Given the description of an element on the screen output the (x, y) to click on. 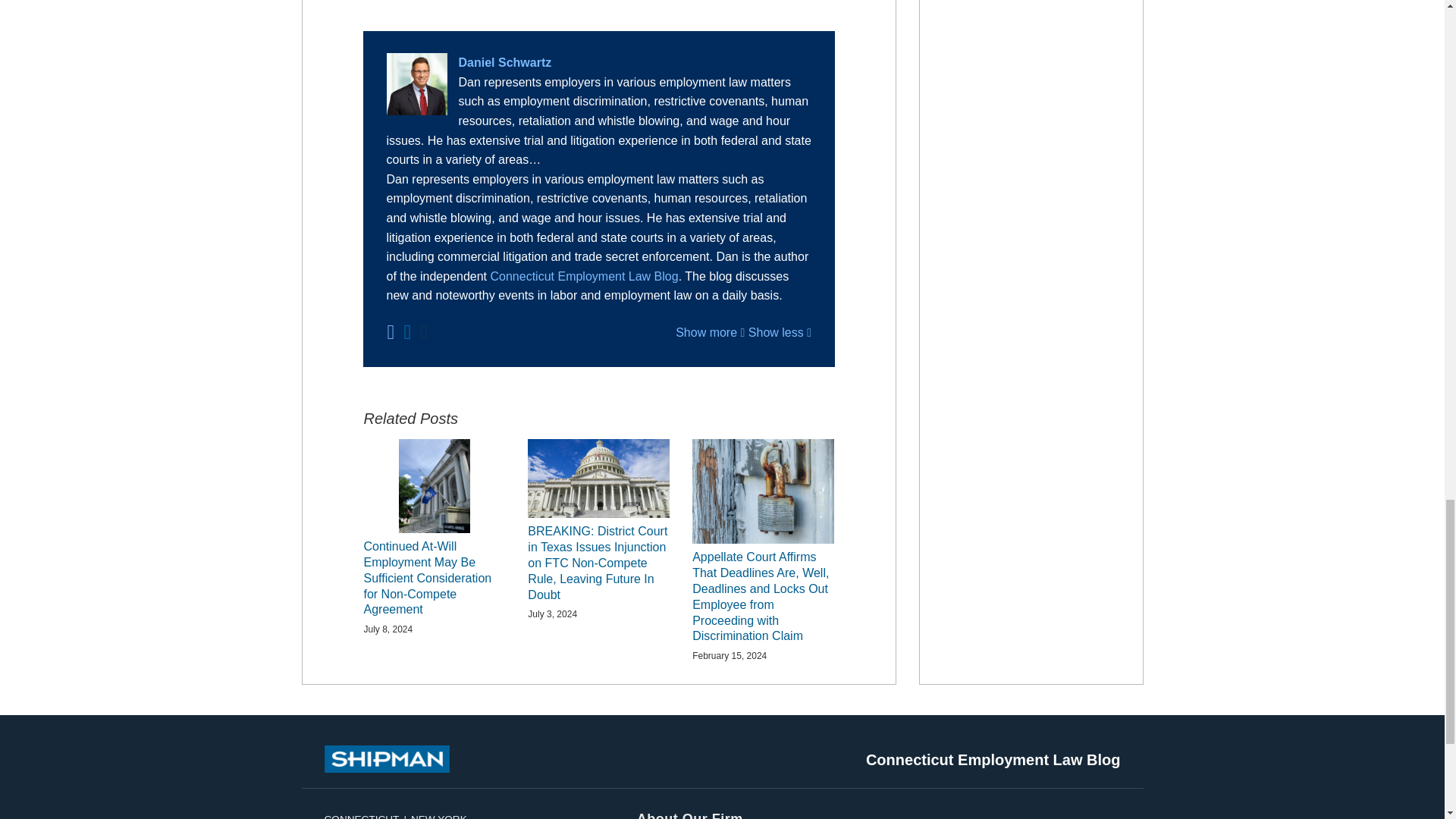
Connecticut Employment Law Blog (584, 276)
Daniel Schwartz (599, 62)
